Given the description of an element on the screen output the (x, y) to click on. 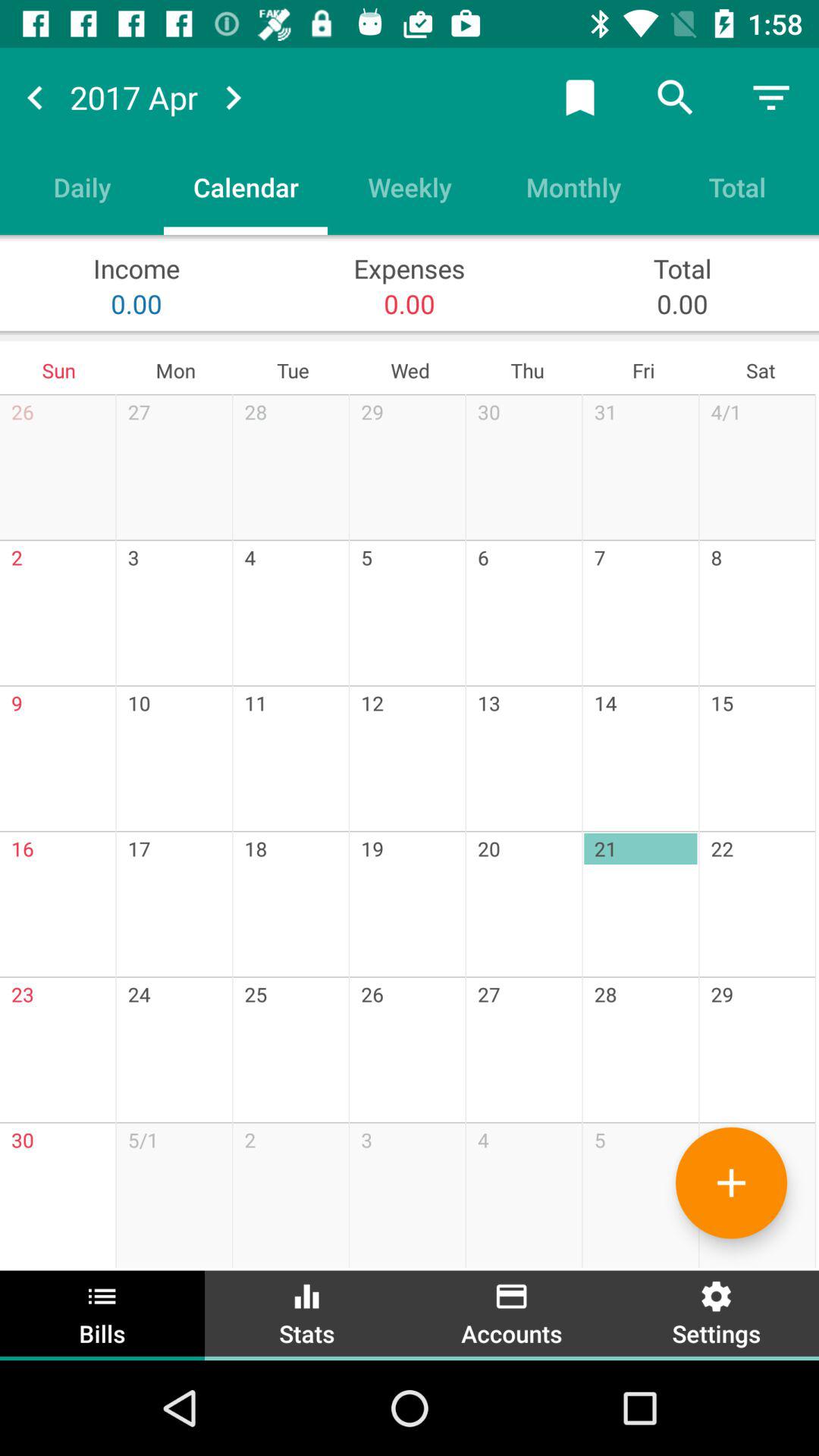
flip to calendar icon (245, 186)
